Given the description of an element on the screen output the (x, y) to click on. 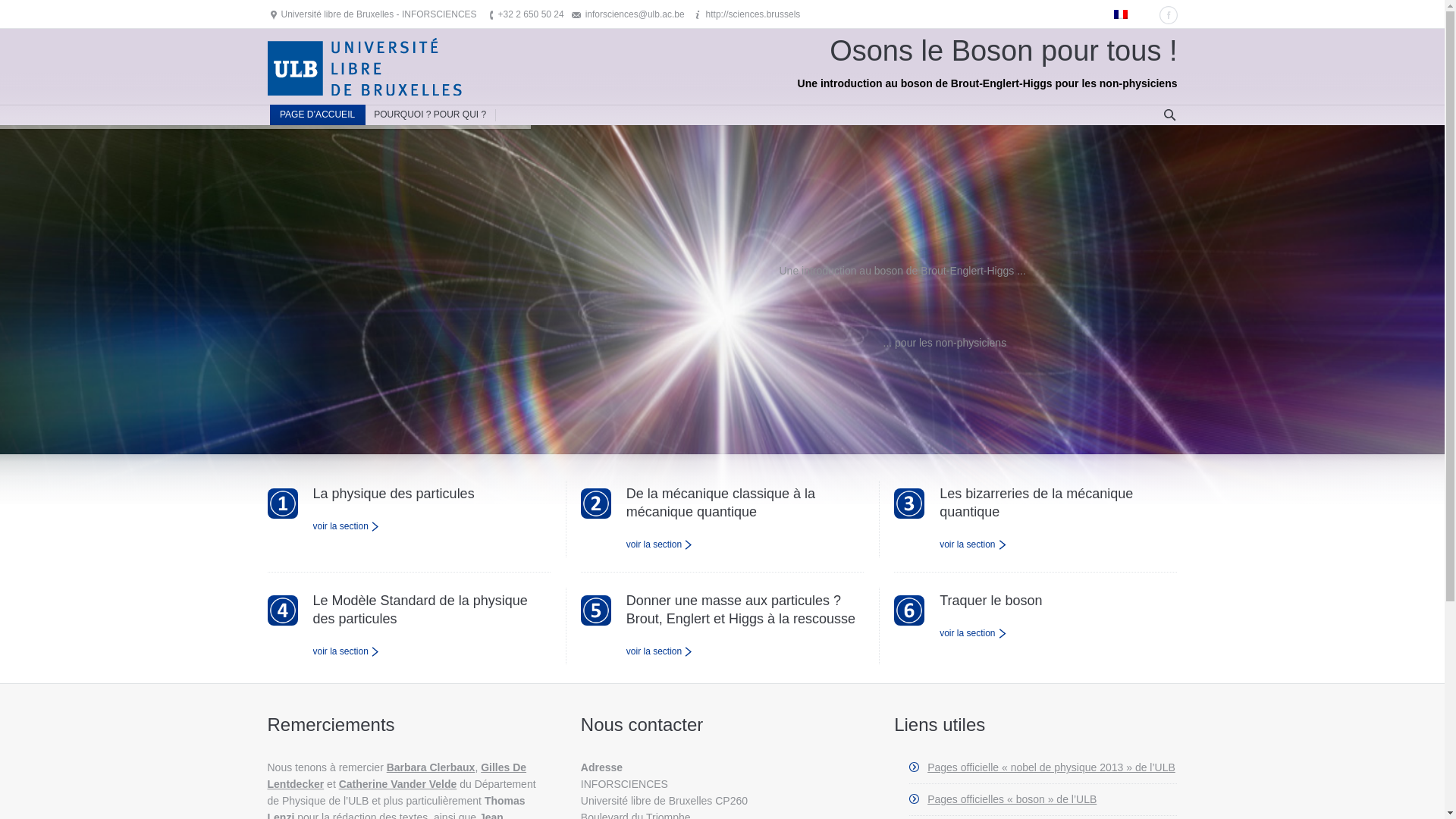
voir la section Element type: text (345, 525)
voir la section Element type: text (659, 651)
Facebook Element type: text (1167, 15)
POURQUOI ? POUR QUI ? Element type: text (430, 114)
Gilles De Lentdecker Element type: text (396, 775)
voir la section Element type: text (972, 632)
voir la section Element type: text (972, 544)
voir la section Element type: text (659, 544)
Catherine Vander Velde Element type: text (397, 784)
Go! Element type: text (15, 9)
voir la section Element type: text (345, 651)
Barbara Clerbaux Element type: text (430, 767)
